Given the description of an element on the screen output the (x, y) to click on. 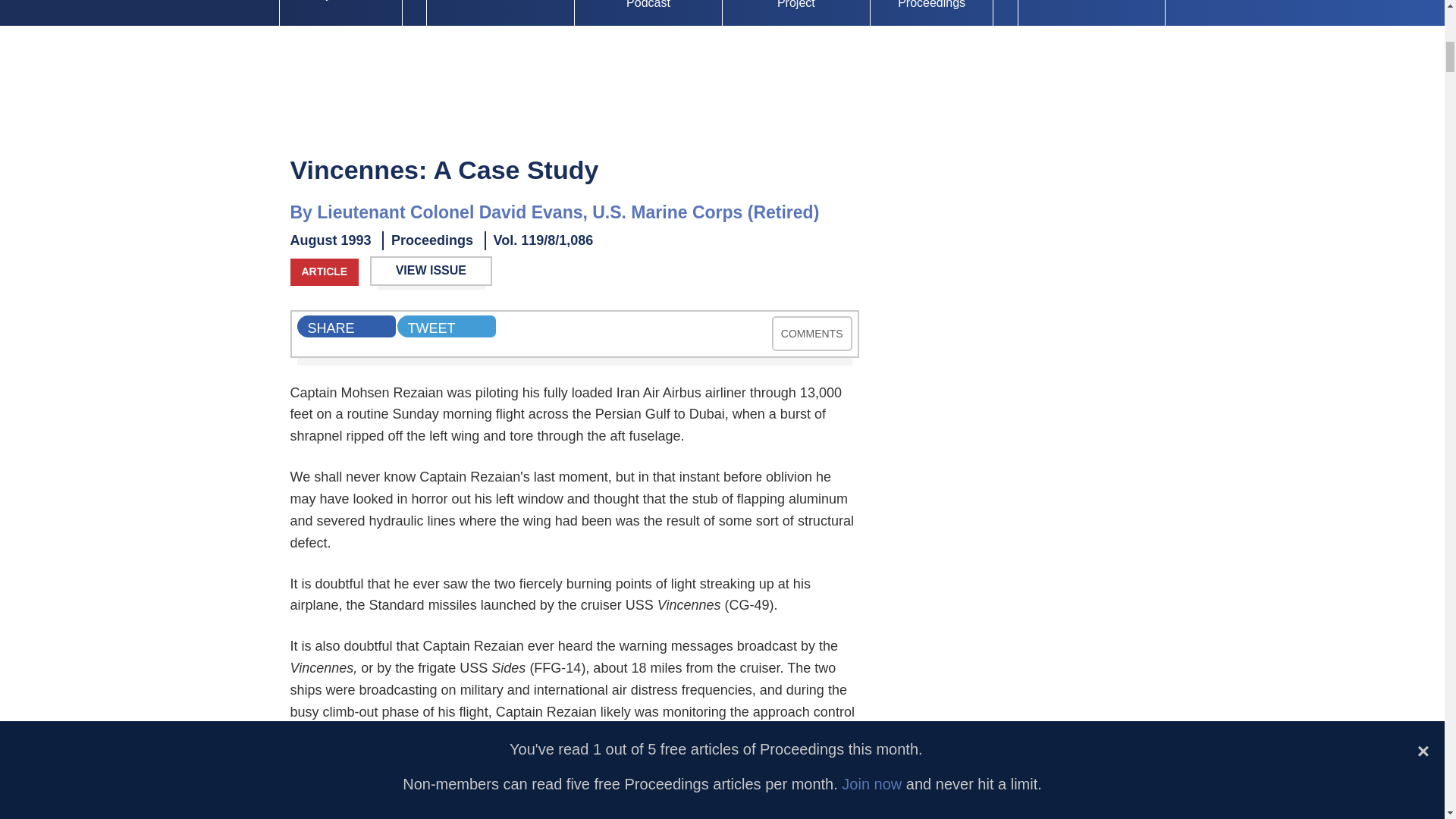
American Sea Power Project (795, 13)
Current Issue of Proceedings (499, 13)
